Given the description of an element on the screen output the (x, y) to click on. 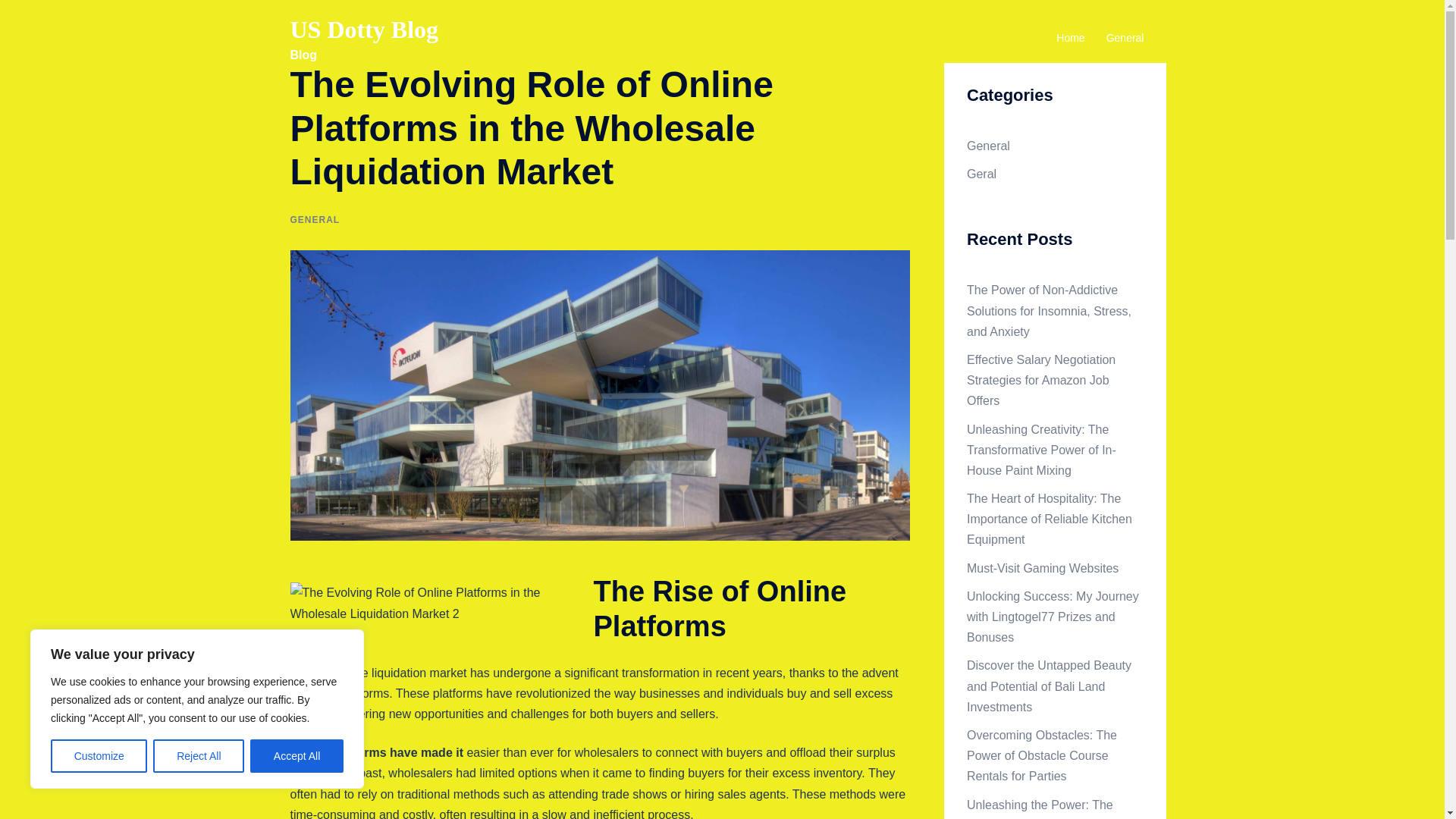
General (988, 145)
Reject All (198, 756)
Geral (980, 173)
Must-Visit Gaming Websites (1042, 567)
Accept All (296, 756)
General (1125, 38)
